Given the description of an element on the screen output the (x, y) to click on. 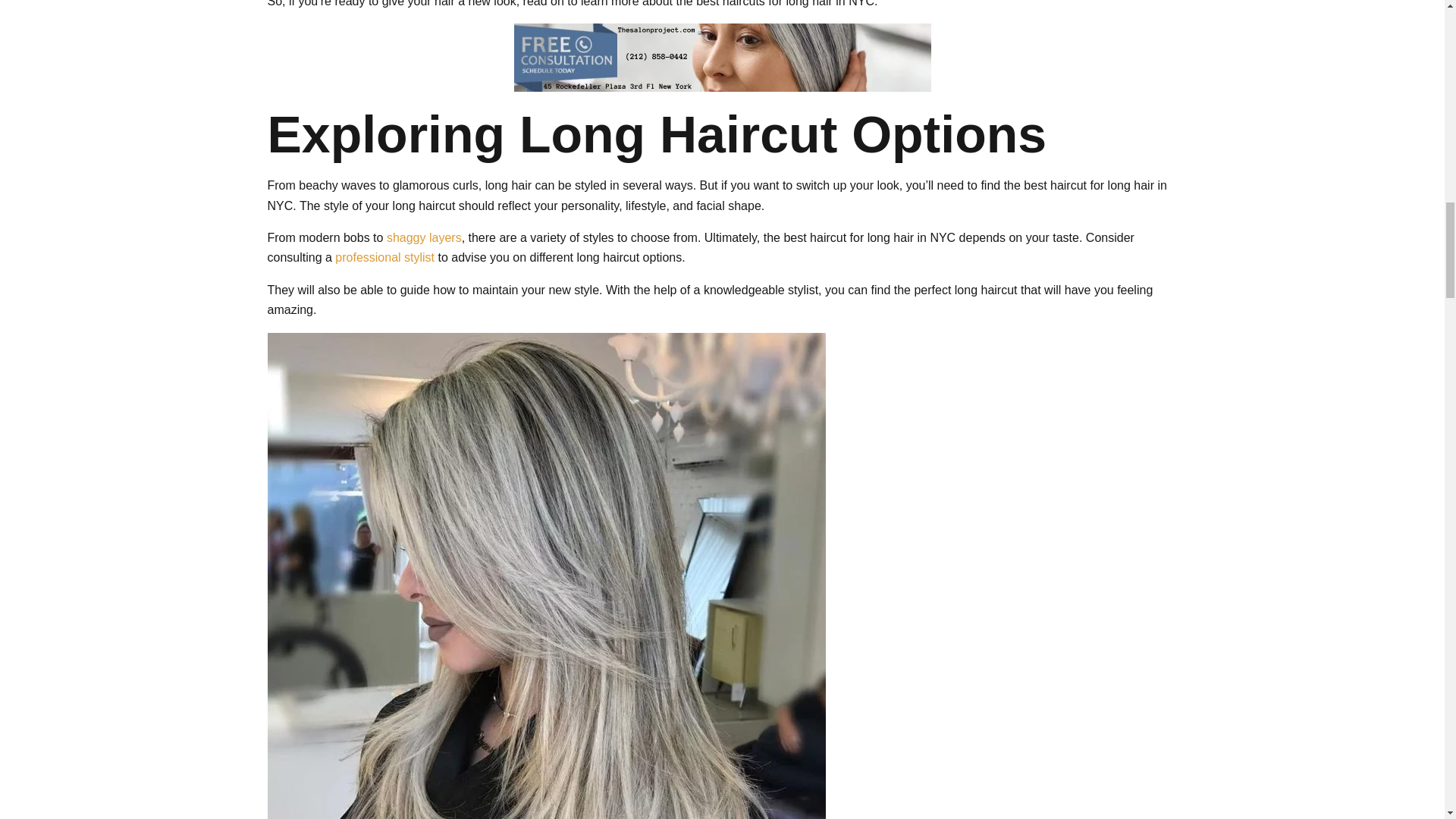
professional stylist (383, 256)
shaggy layers (424, 237)
